Given the description of an element on the screen output the (x, y) to click on. 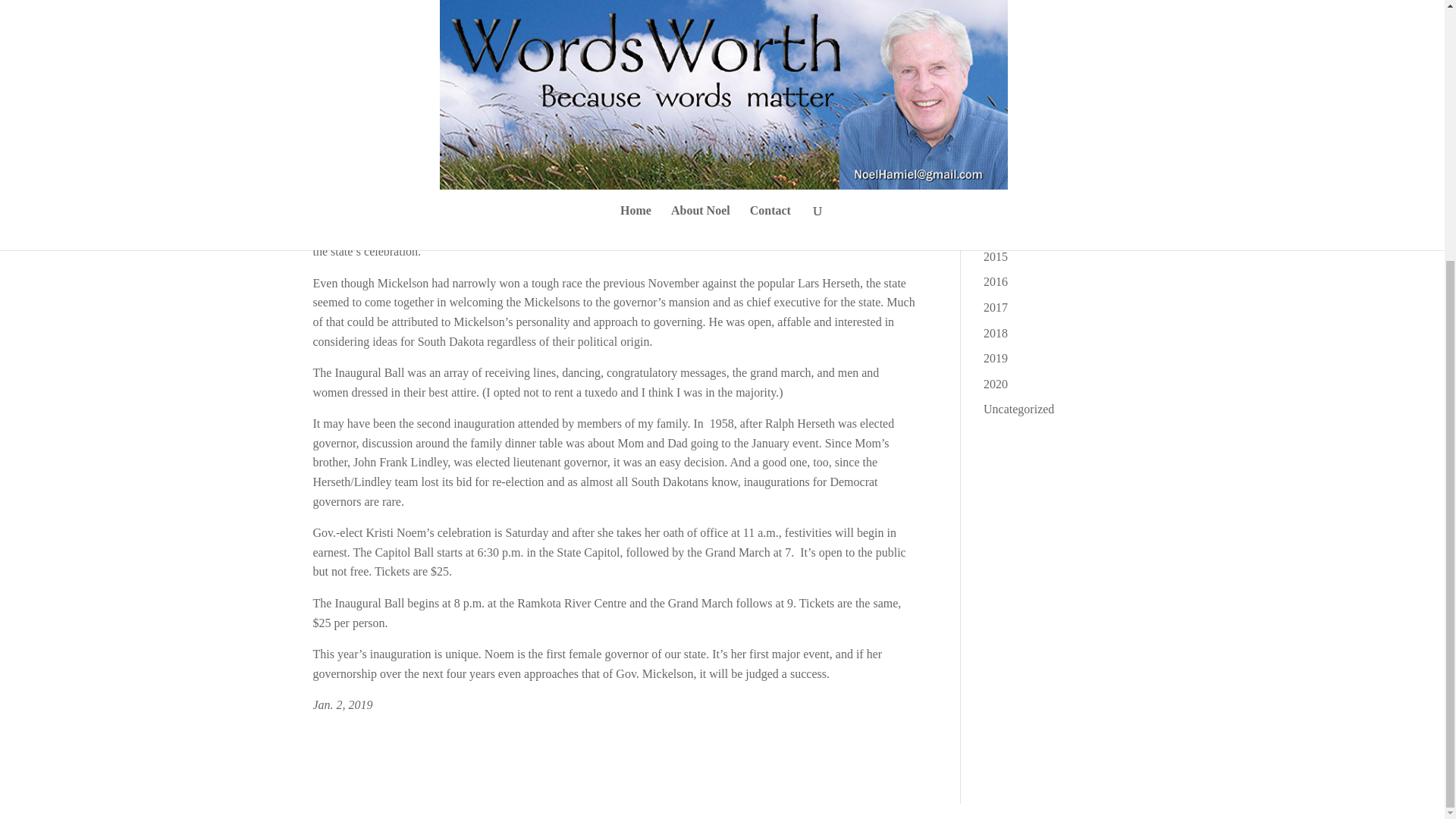
Uncategorized (1019, 408)
Halloween candy poll is suspicious (1042, 133)
Nov. 11 is special day for all of us (1053, 88)
2019 (995, 358)
Family marks 100th opening day hunt (1053, 178)
2020 (995, 383)
2018 (995, 332)
Mrs. Cadwell: A great teacher (1056, 52)
2015 (995, 256)
2017 (995, 307)
